Given the description of an element on the screen output the (x, y) to click on. 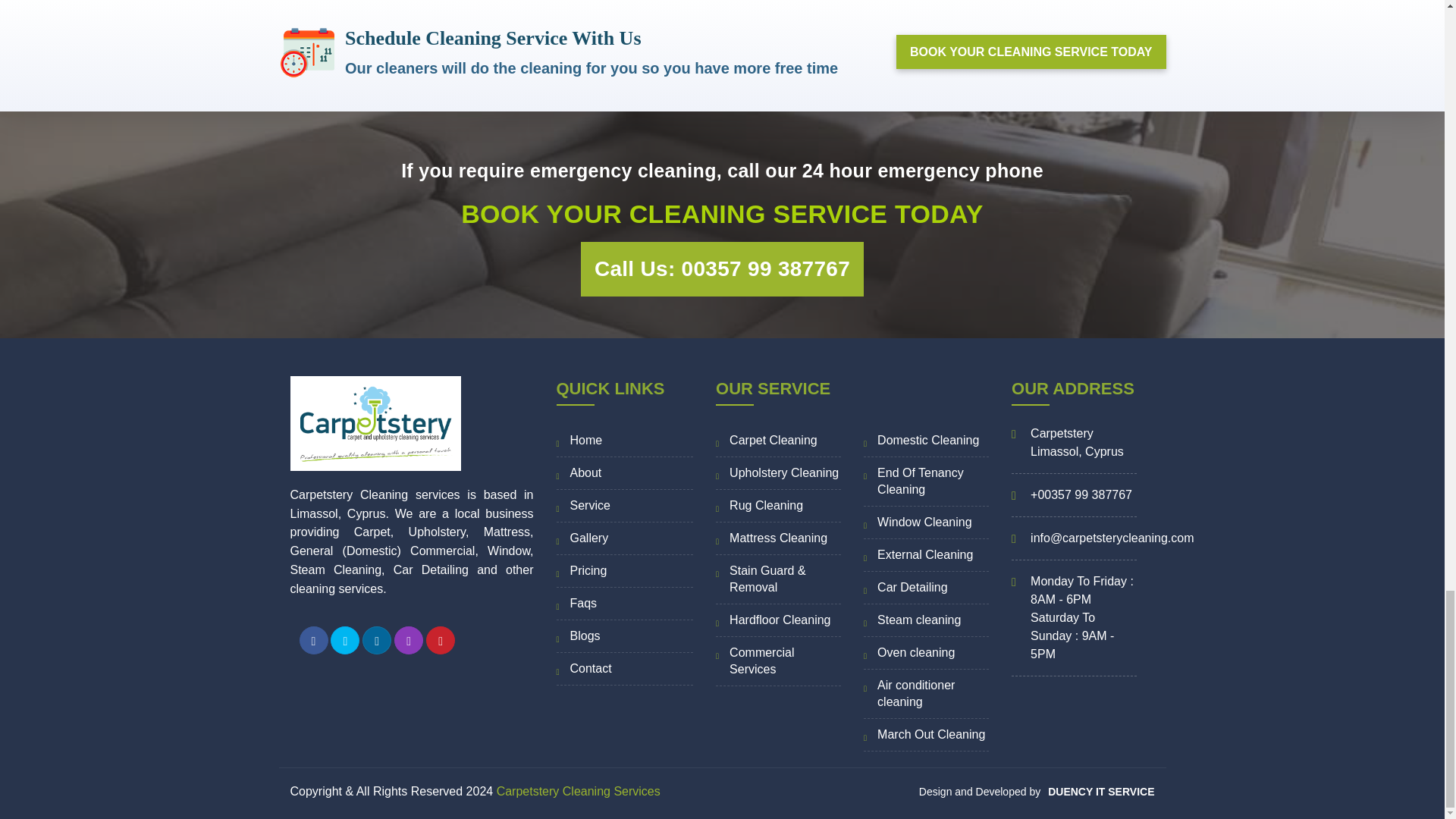
BOOK YOUR CLEANING SERVICE TODAY (1031, 51)
